Given the description of an element on the screen output the (x, y) to click on. 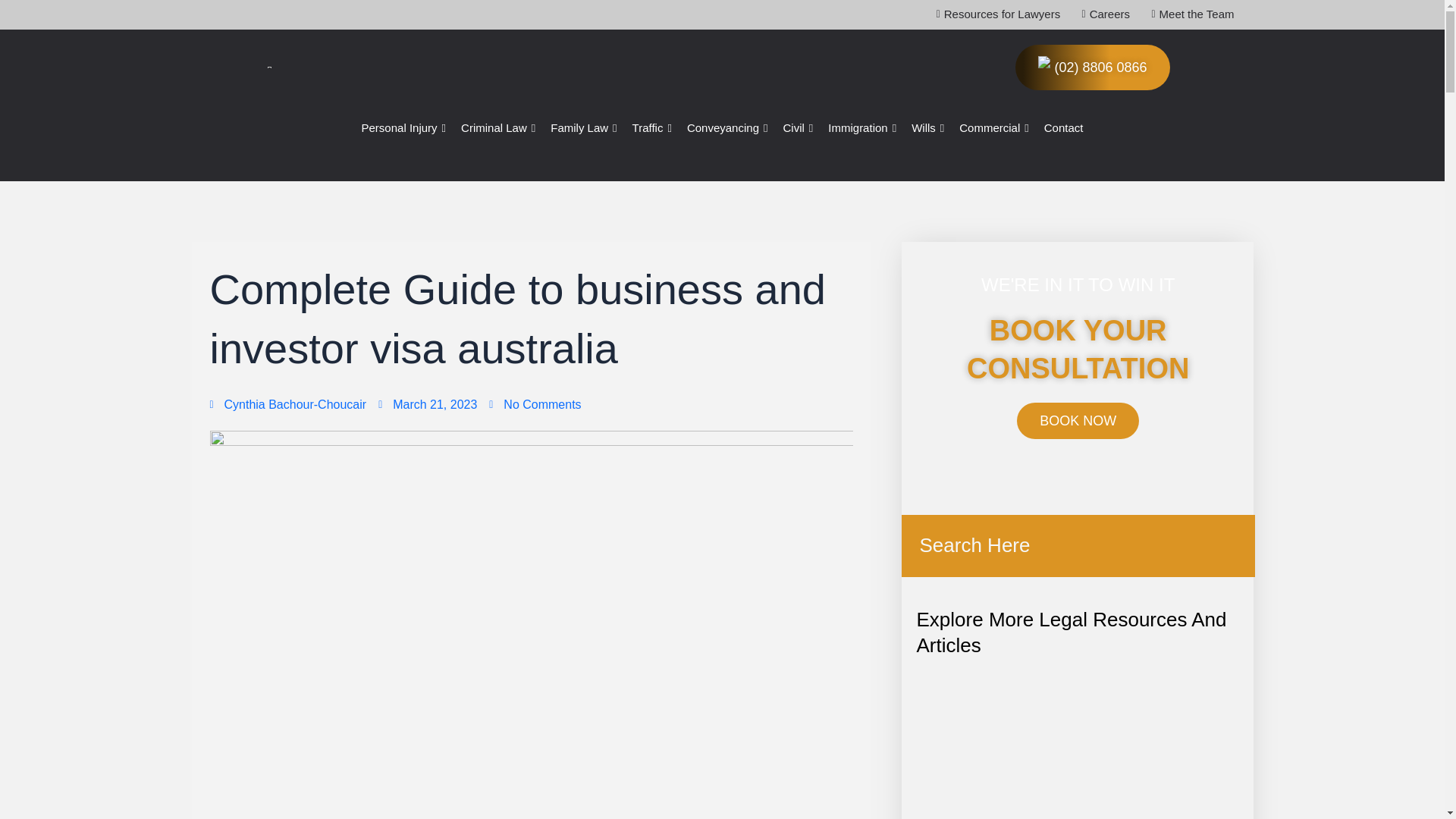
Resources for Lawyers (992, 14)
Criminal Law (497, 128)
Meet the Team (1187, 14)
Personal Injury (403, 128)
Careers (1100, 14)
